Given the description of an element on the screen output the (x, y) to click on. 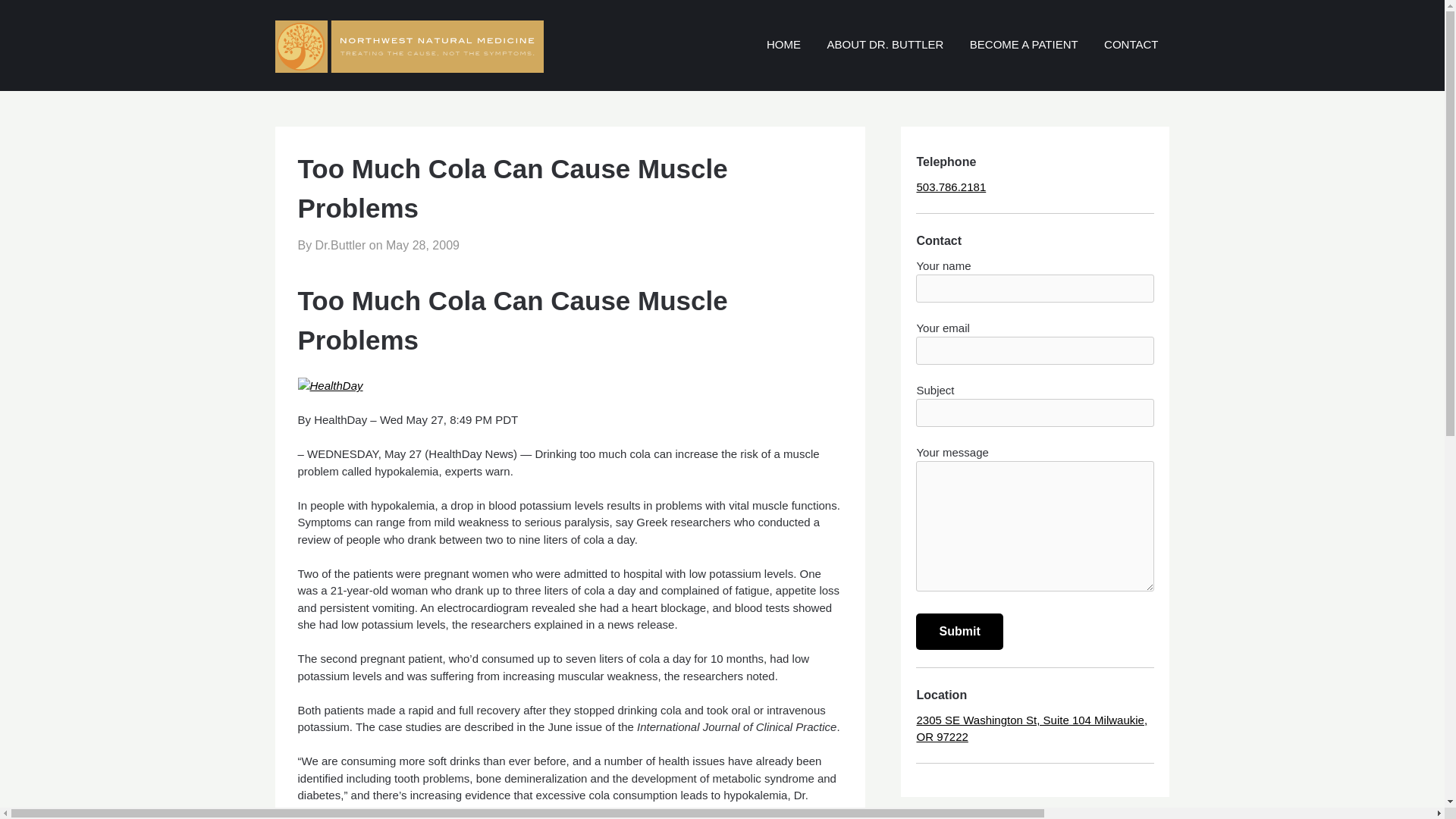
Submit (959, 631)
503.786.2181 (950, 186)
CONTACT (1131, 45)
ABOUT DR. BUTTLER (885, 45)
Northwest Natural Medicine (999, 25)
HOME (783, 45)
2305 SE Washington St, Suite 104 Milwaukie, OR 97222 (1031, 728)
BECOME A PATIENT (1023, 45)
Submit (959, 631)
May 28, 2009 (422, 245)
